Given the description of an element on the screen output the (x, y) to click on. 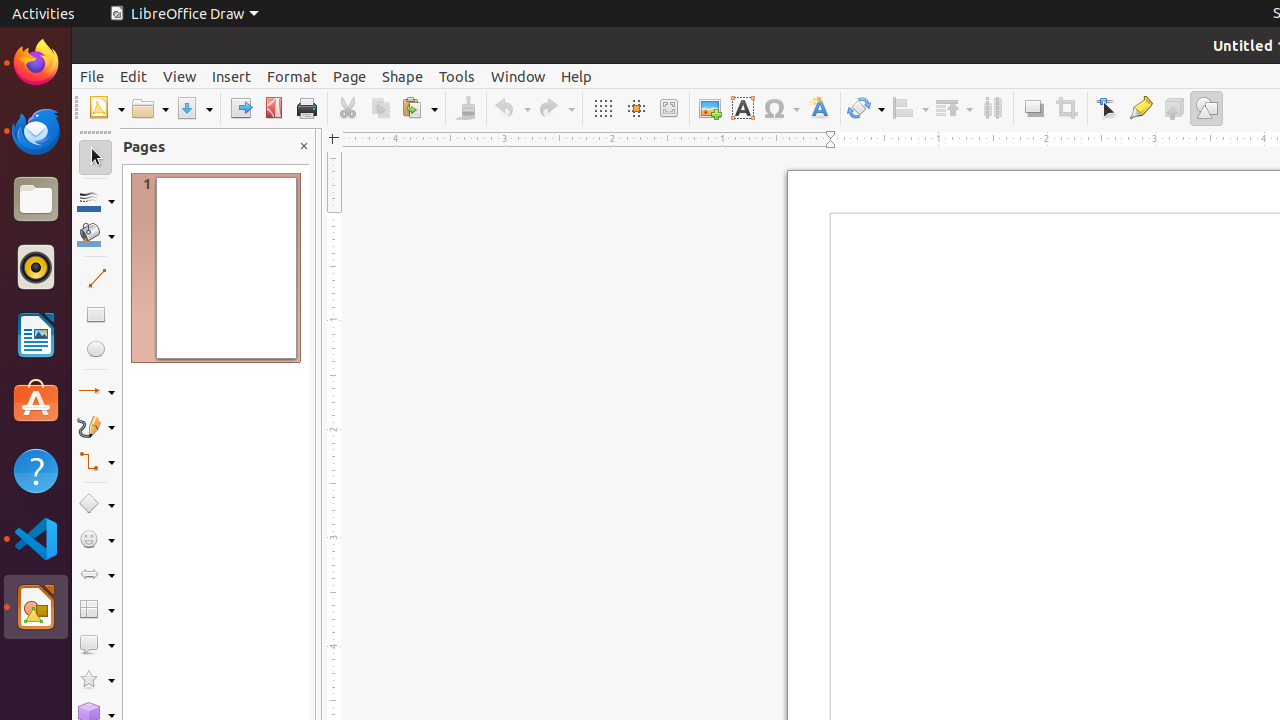
Arrange Element type: push-button (954, 108)
Line Element type: push-button (95, 278)
Grid Element type: toggle-button (602, 108)
Close Pane Element type: push-button (303, 146)
Ellipse Element type: push-button (95, 348)
